Given the description of an element on the screen output the (x, y) to click on. 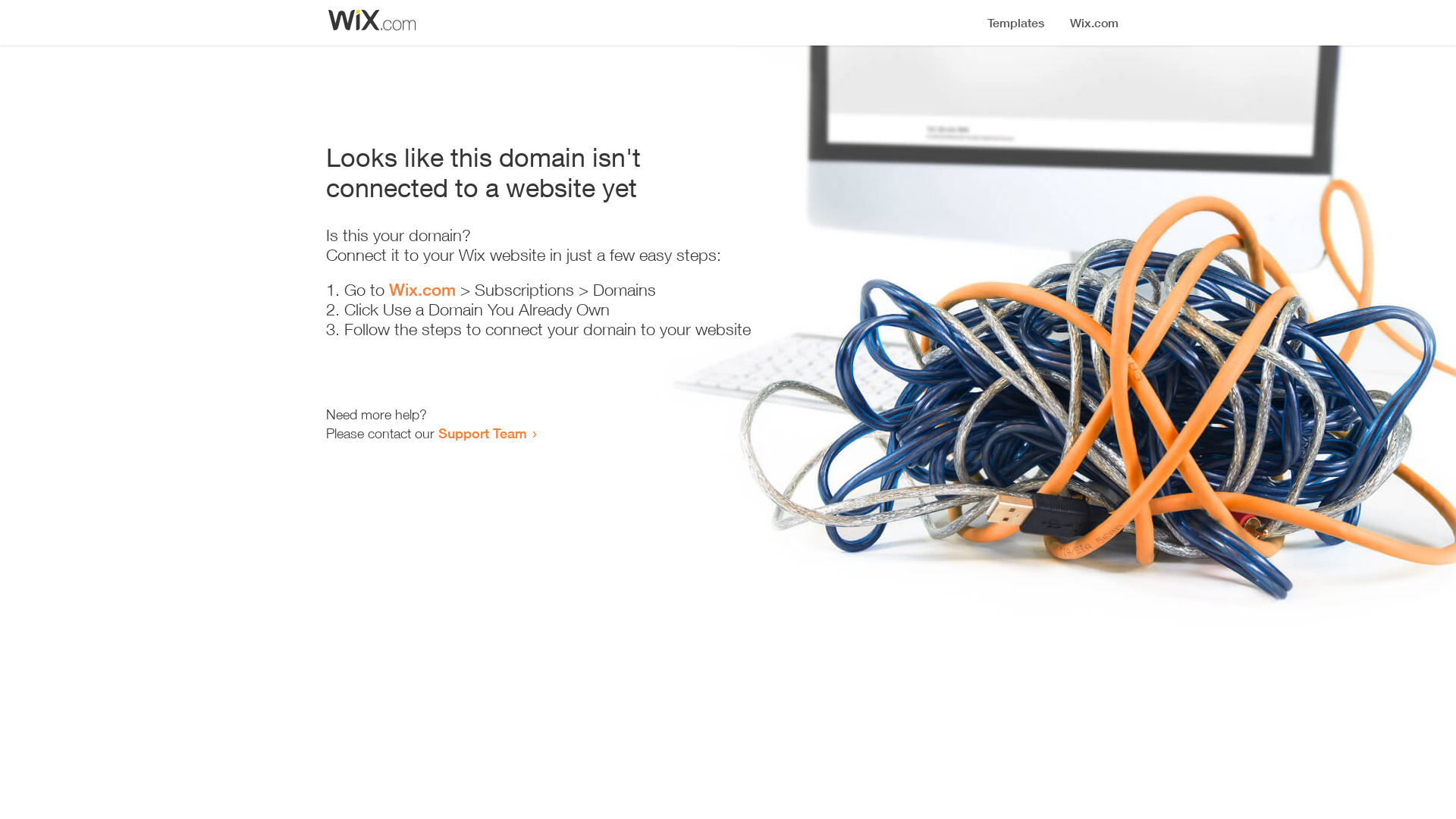
Support Team Element type: text (482, 432)
Wix.com Element type: text (422, 289)
